Given the description of an element on the screen output the (x, y) to click on. 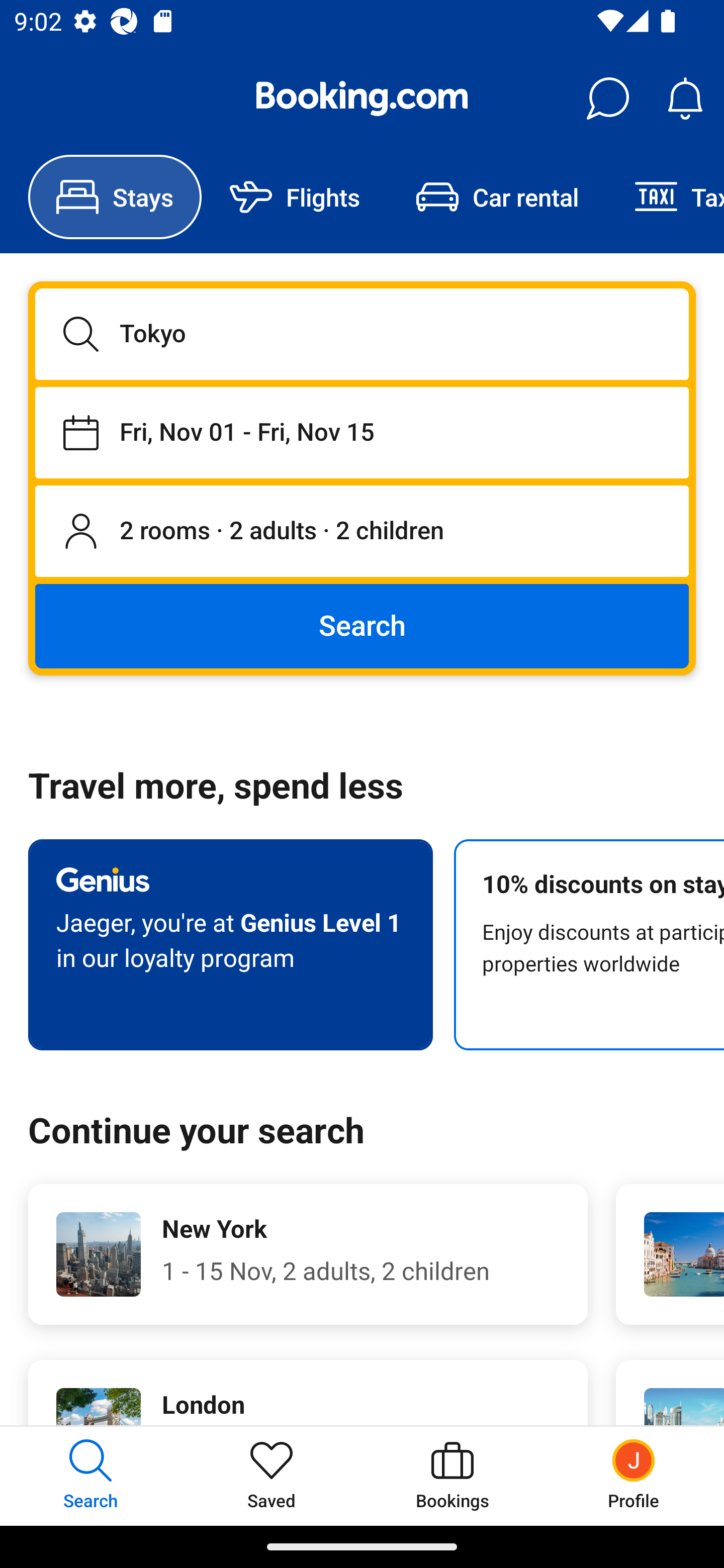
Messages (607, 98)
Notifications (685, 98)
Stays (114, 197)
Flights (294, 197)
Car rental (497, 197)
Taxi (665, 197)
Tokyo (361, 333)
Staying from Fri, Nov 01 until Fri, Nov 15 (361, 432)
2 rooms, 2 adults, 2 children (361, 531)
Search (361, 625)
New York 1 - 15 Nov, 2 adults, 2 children (307, 1253)
Saved (271, 1475)
Bookings (452, 1475)
Profile (633, 1475)
